Given the description of an element on the screen output the (x, y) to click on. 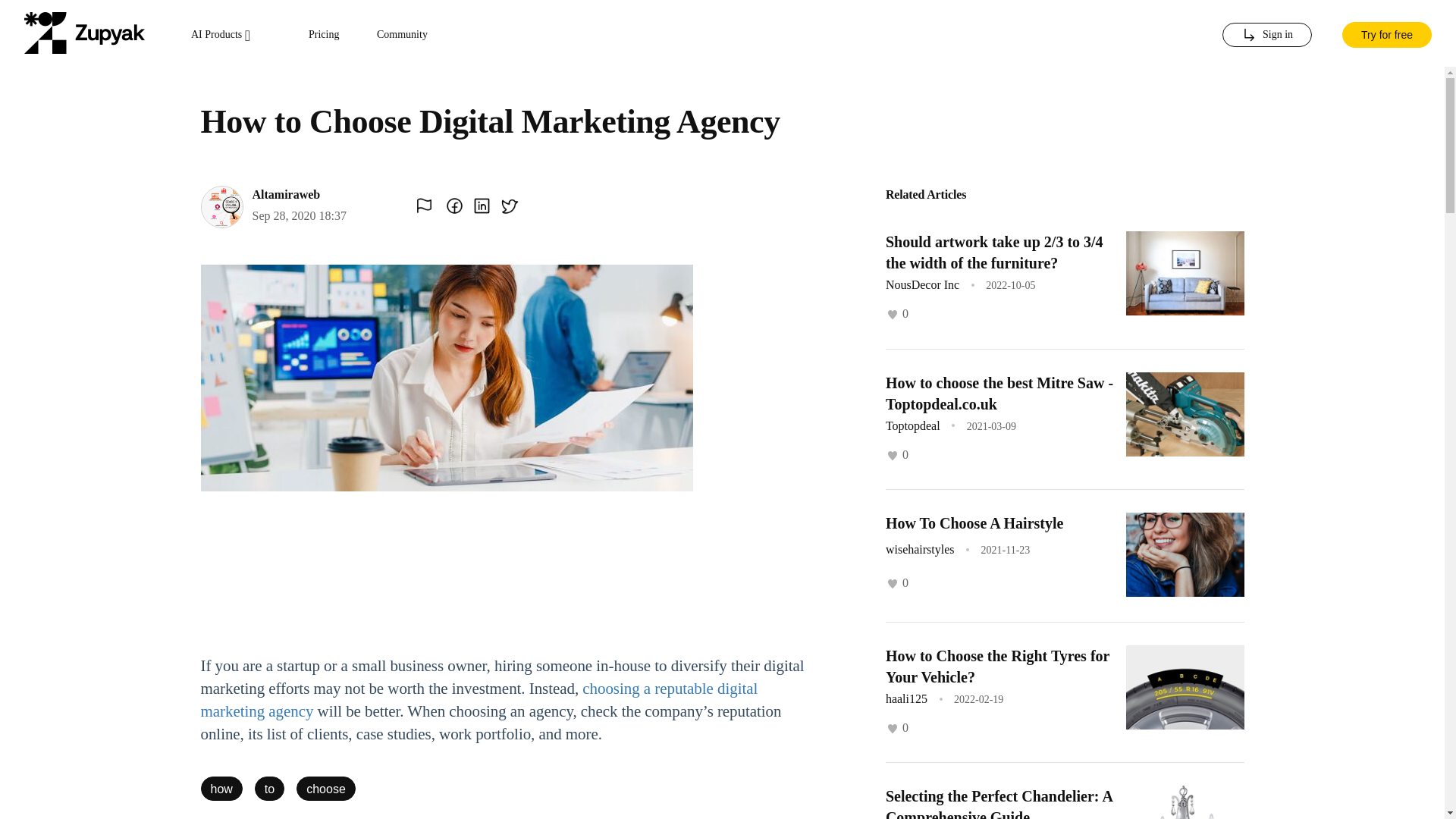
Selecting the Perfect Chandelier: A Comprehensive Guide (998, 803)
Pricing (323, 34)
Try for free (1386, 33)
choosing a reputable digital marketing agency (478, 699)
How to Choose the Right Tyres for Your Vehicle? (997, 666)
Community (402, 34)
choosing a reputable digital marketing agency (478, 699)
 Sign in (1267, 34)
How to choose the best Mitre Saw - Toptopdeal.co.uk (999, 393)
How To Choose A  Hairstyle (973, 523)
